Given the description of an element on the screen output the (x, y) to click on. 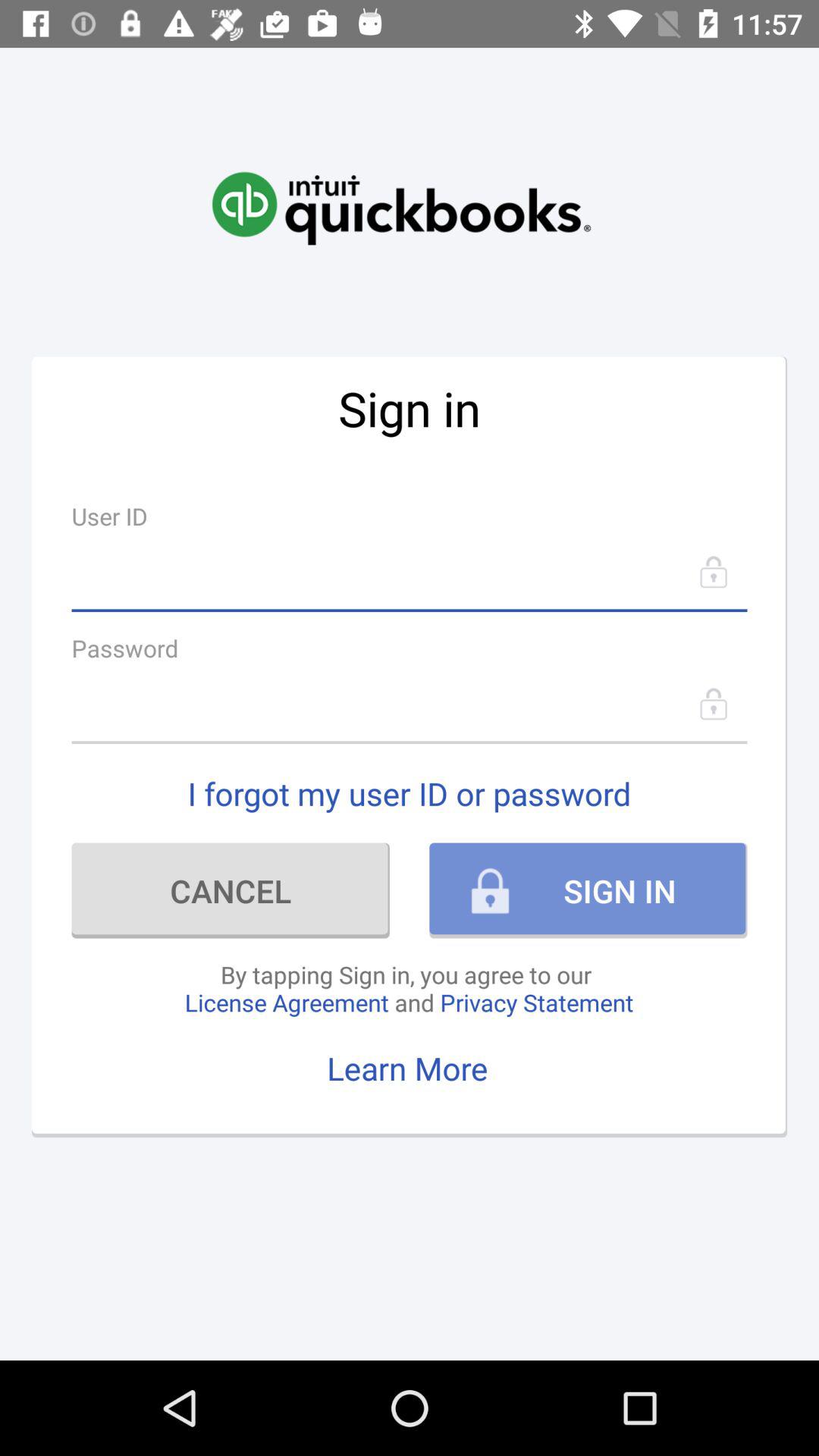
choose icon above by tapping sign (230, 890)
